Given the description of an element on the screen output the (x, y) to click on. 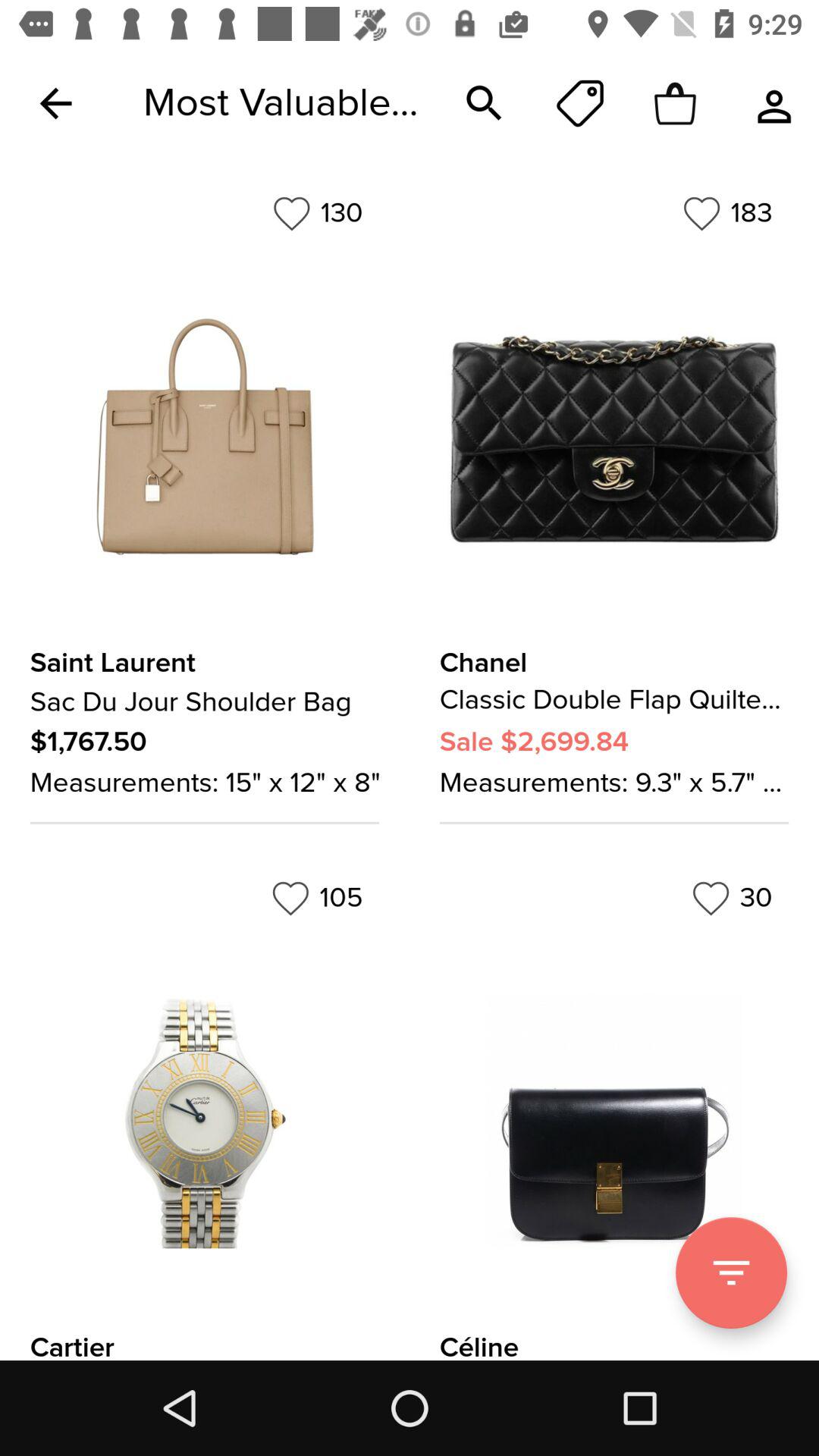
filter option (731, 1272)
